Given the description of an element on the screen output the (x, y) to click on. 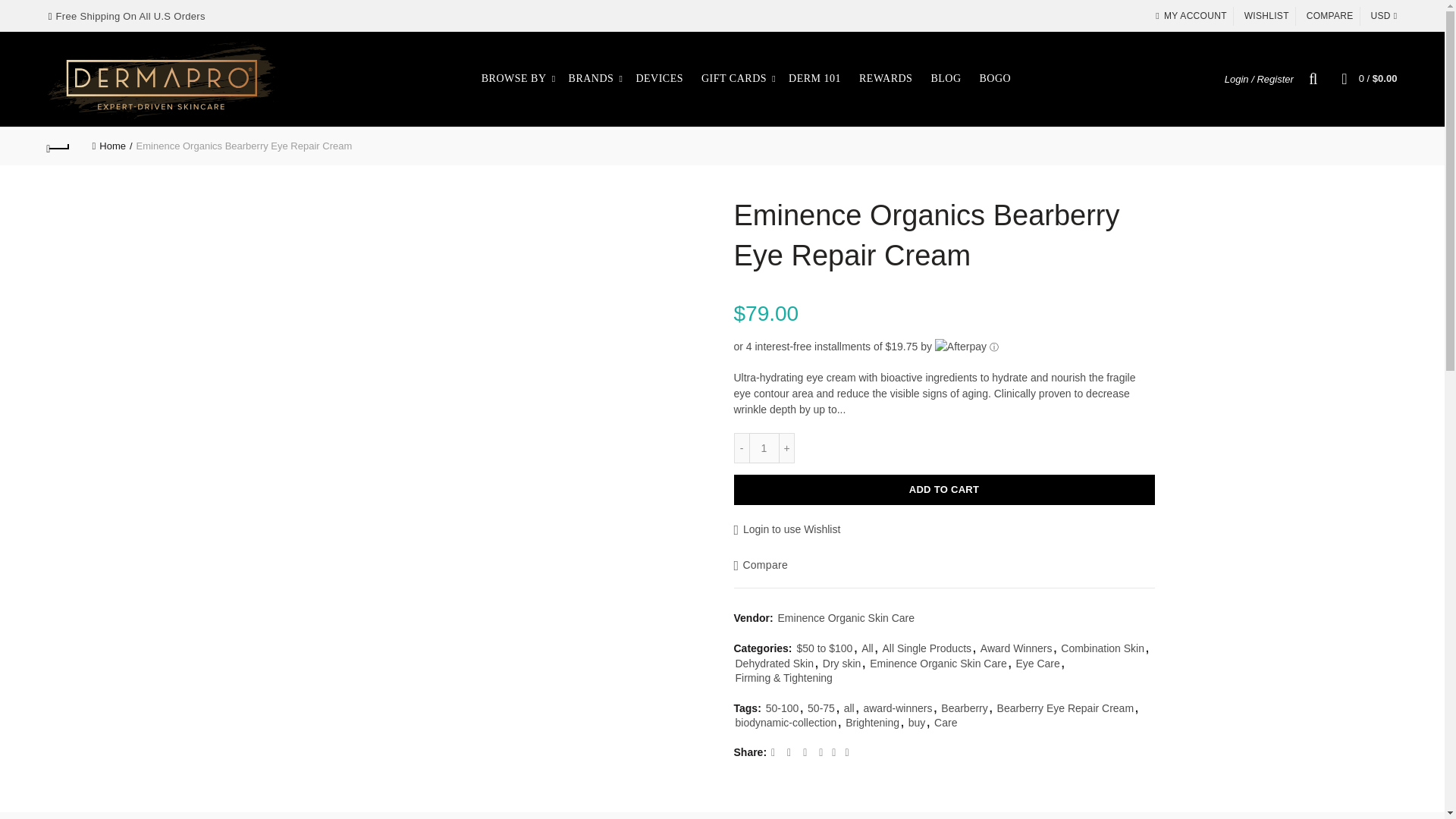
1 (763, 448)
Eminence Organic Skin Care (846, 618)
Qty (763, 448)
